Given the description of an element on the screen output the (x, y) to click on. 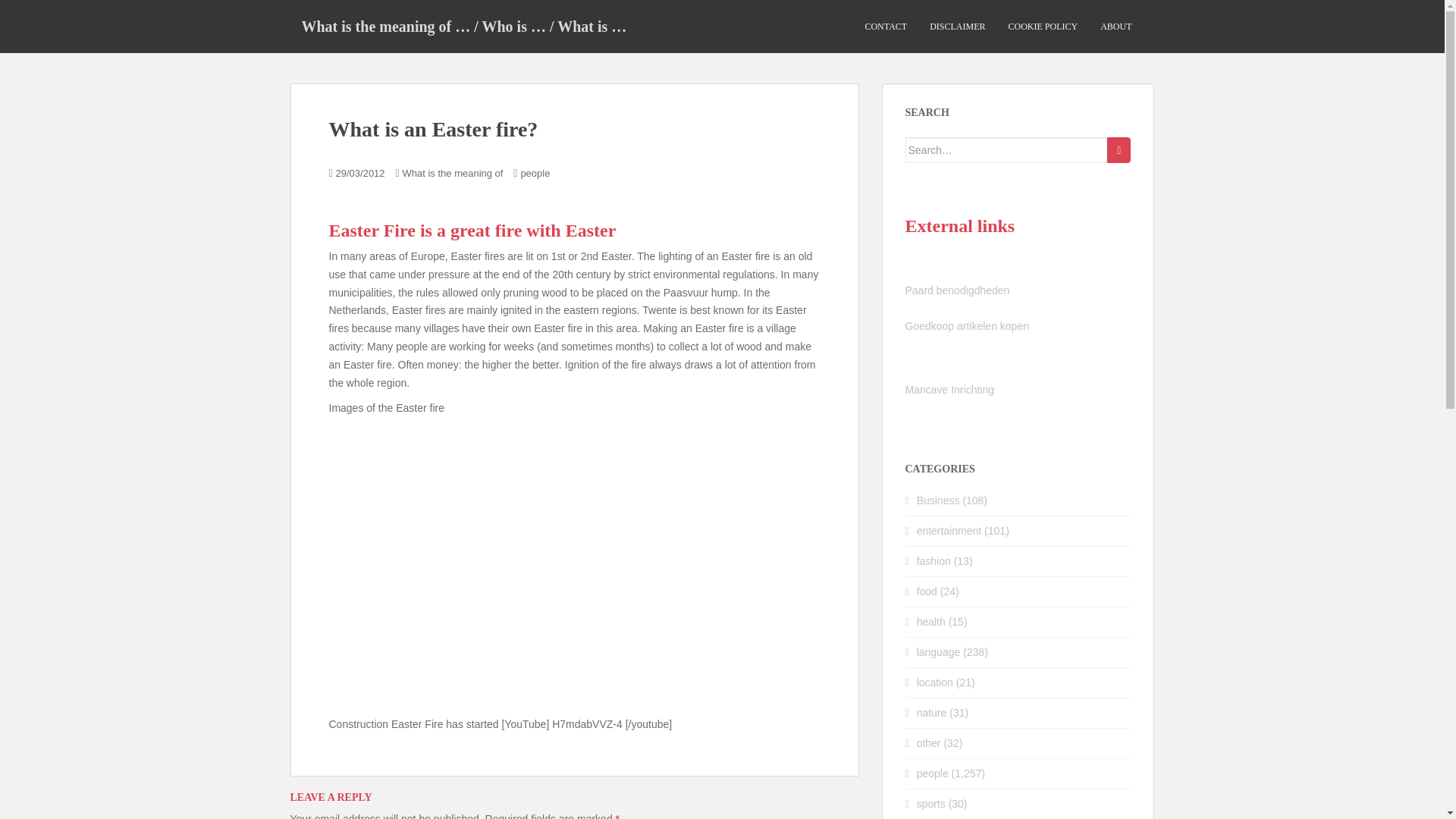
ABOUT (1115, 26)
sports (930, 803)
Search (1118, 149)
people (534, 173)
Business (938, 500)
location (935, 682)
entertainment (949, 530)
CONTACT (885, 26)
What is the meaning of (451, 173)
COOKIE POLICY (1042, 26)
